Given the description of an element on the screen output the (x, y) to click on. 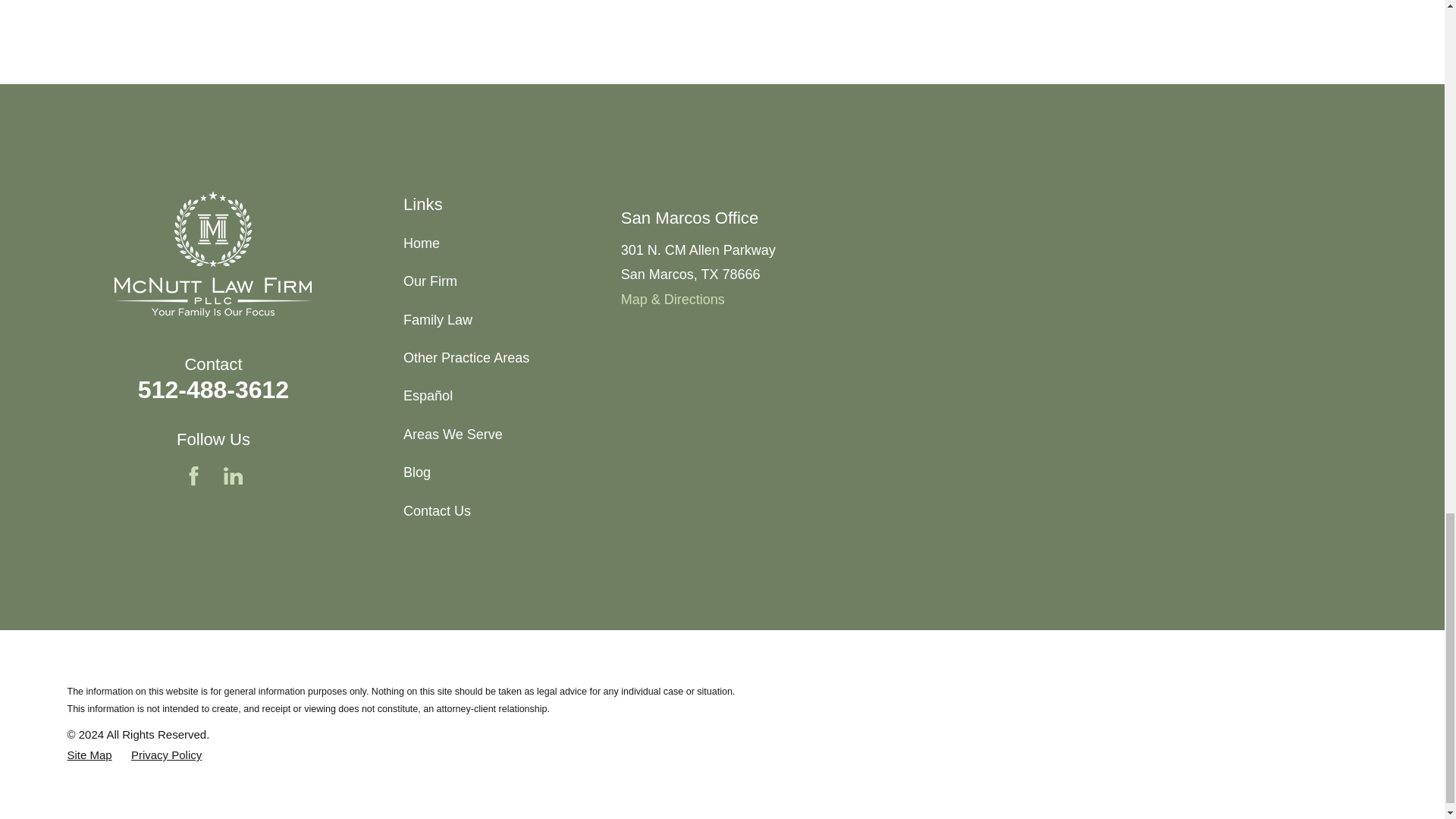
Facebook (193, 475)
Home (213, 253)
LinkedIn (233, 475)
